Given the description of an element on the screen output the (x, y) to click on. 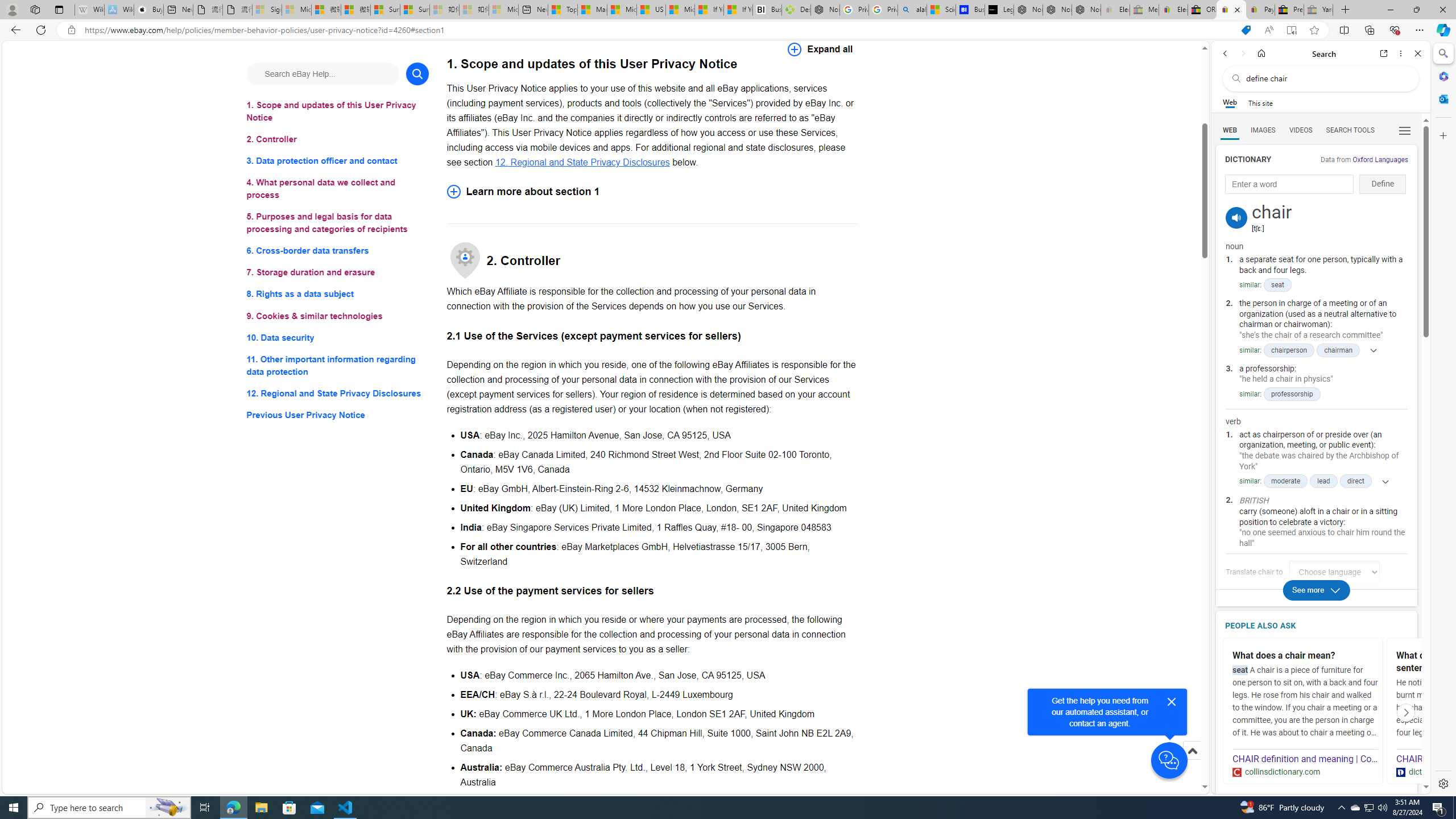
8. Rights as a data subject (337, 293)
Nordace - My Account (825, 9)
User Privacy Notice | eBay (1230, 9)
Sign in to your Microsoft account - Sleeping (266, 9)
What does a chair mean? (1304, 656)
6. Cross-border data transfers (337, 250)
